Given the description of an element on the screen output the (x, y) to click on. 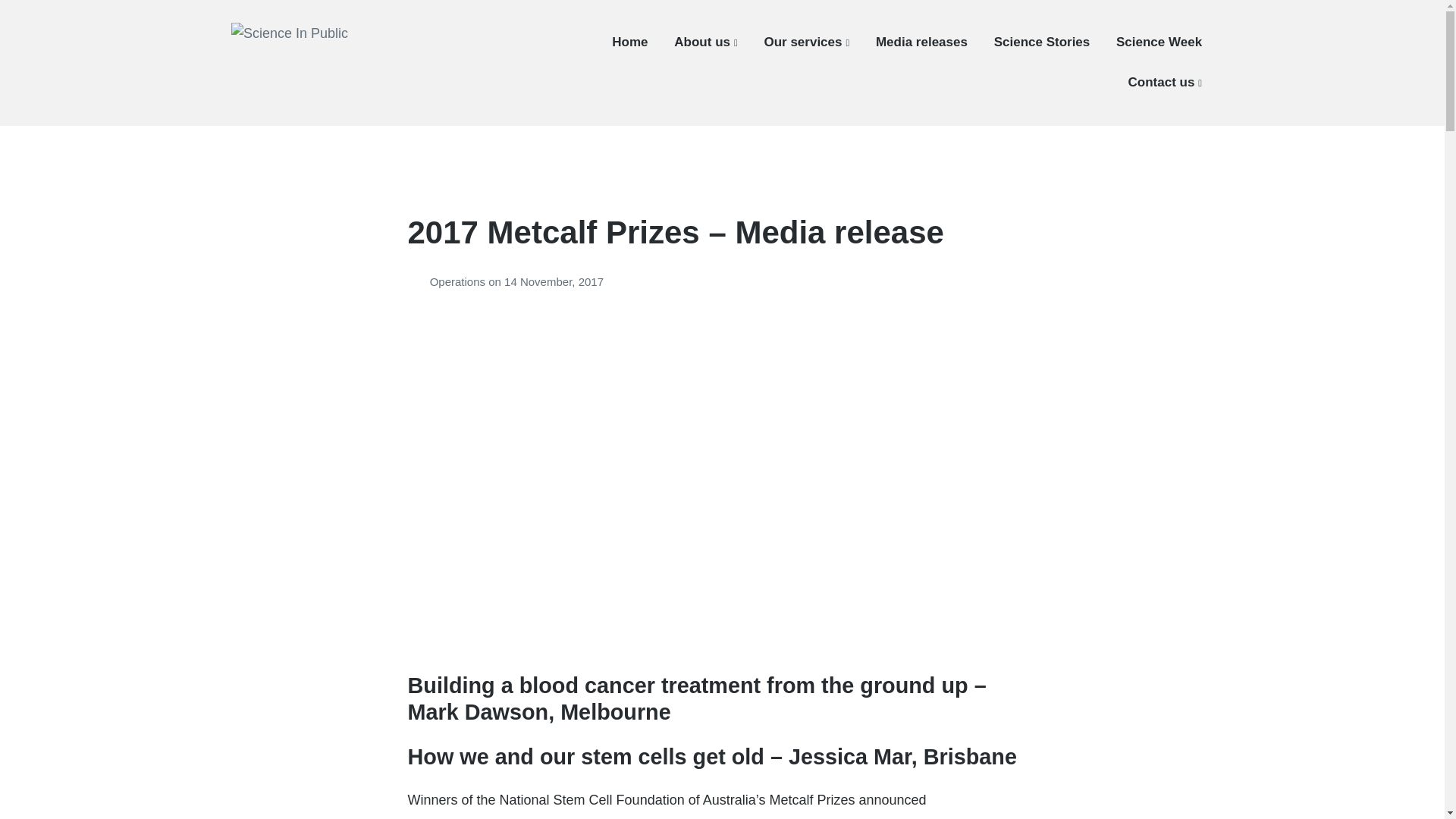
Our services (805, 42)
Science Stories (1042, 42)
Science In Public (312, 78)
Science Week (1159, 42)
About us (705, 42)
Contact us (1165, 82)
Home (629, 42)
Media releases (922, 42)
Posts by Operations (418, 281)
